Given the description of an element on the screen output the (x, y) to click on. 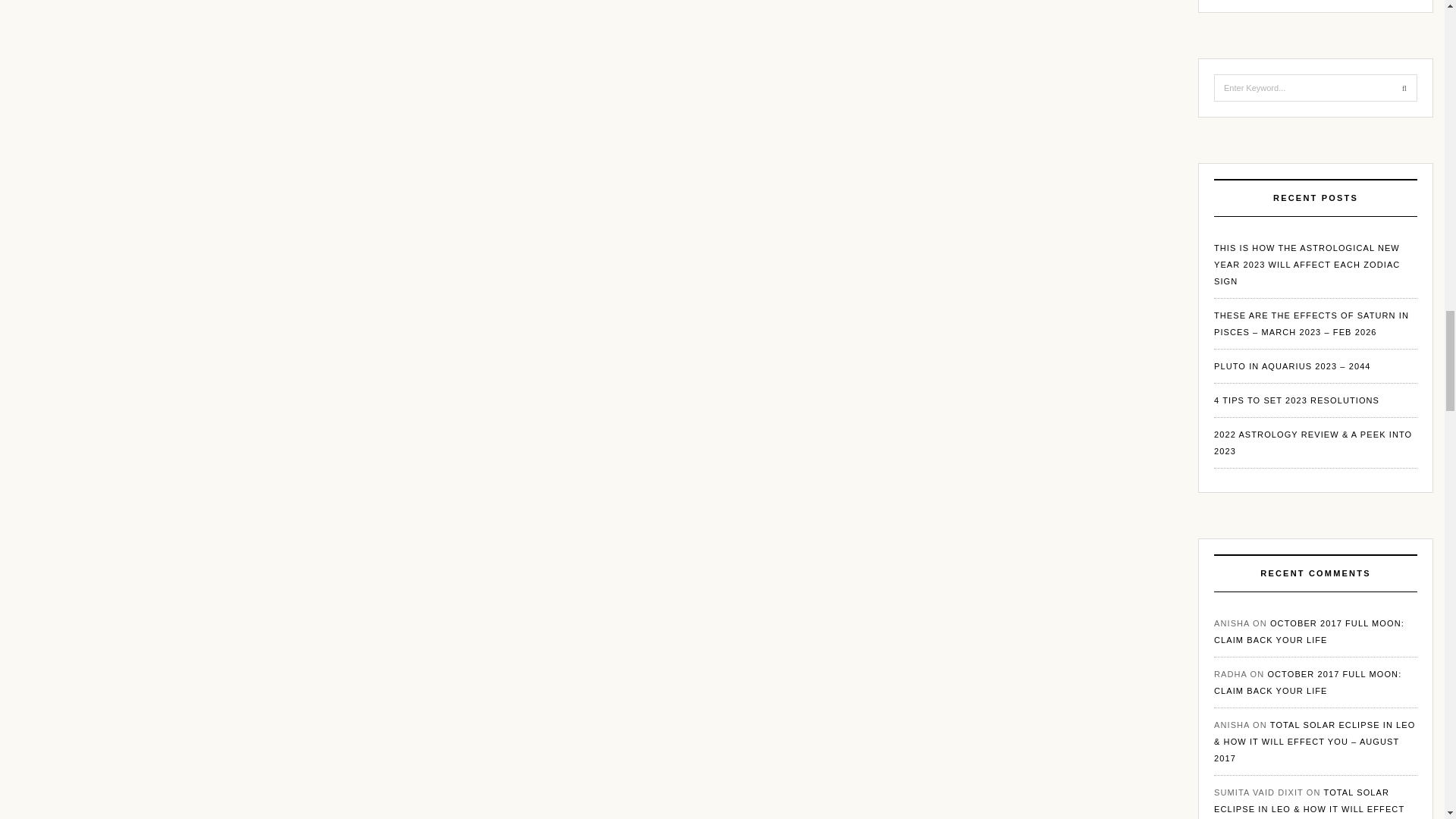
OCTOBER 2017 FULL MOON: CLAIM BACK YOUR LIFE (1307, 682)
4 TIPS TO SET 2023 RESOLUTIONS (1296, 399)
OCTOBER 2017 FULL MOON: CLAIM BACK YOUR LIFE (1309, 631)
